Given the description of an element on the screen output the (x, y) to click on. 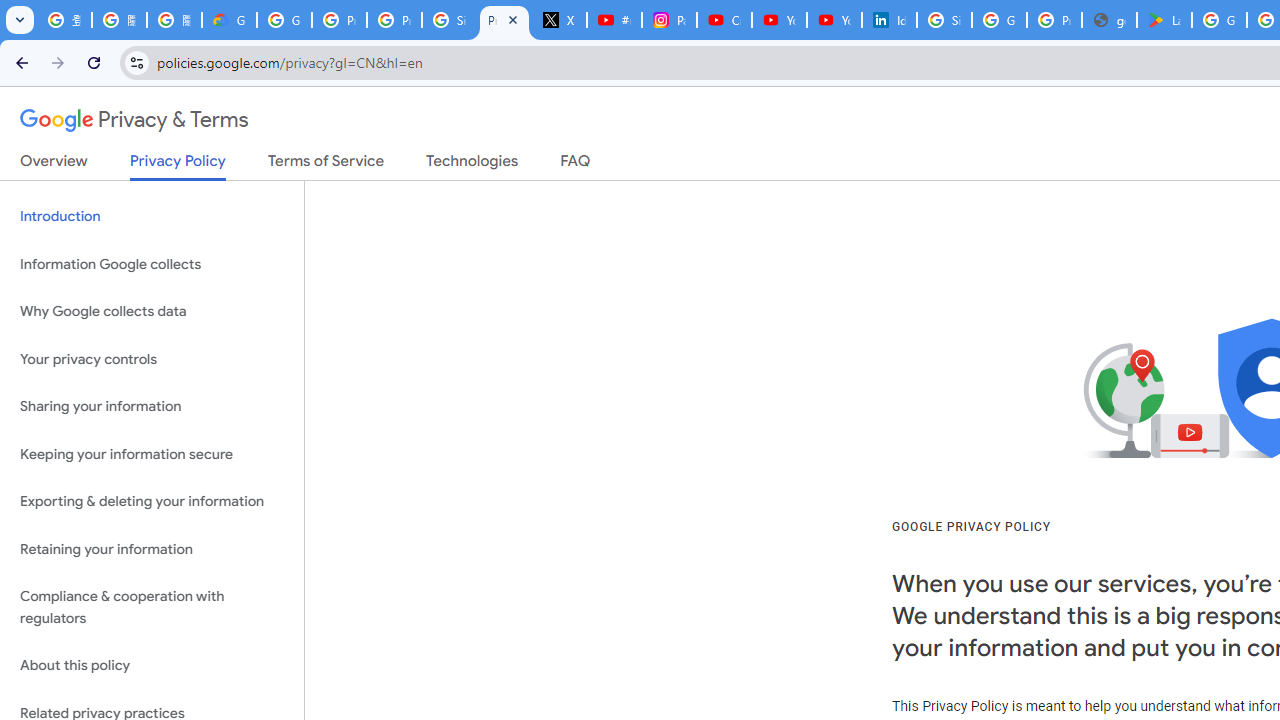
Last Shelter: Survival - Apps on Google Play (1163, 20)
Why Google collects data (152, 312)
Privacy Help Center - Policies Help (394, 20)
